Given the description of an element on the screen output the (x, y) to click on. 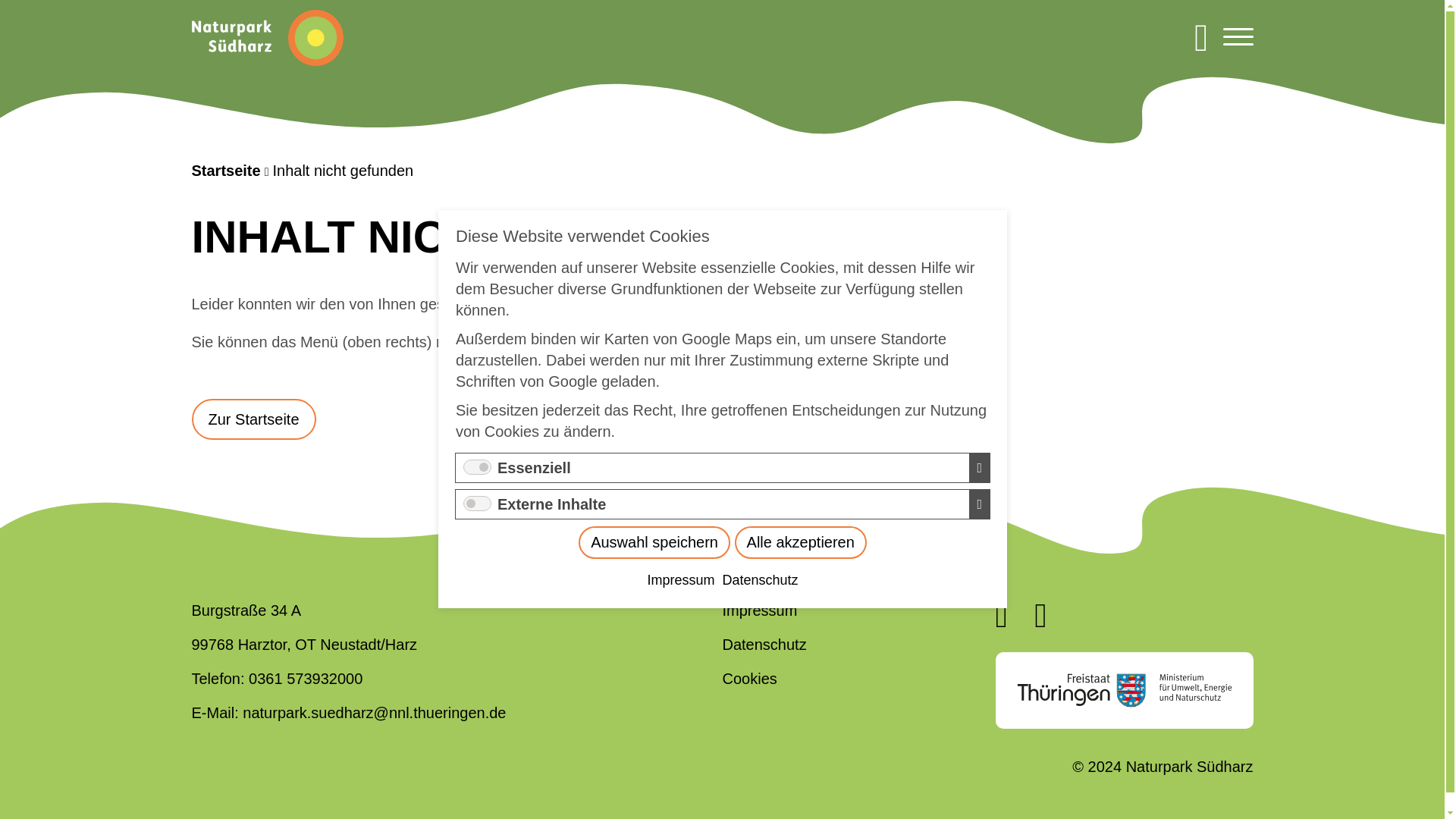
Datenschutz (759, 473)
Auswahl speichern (785, 435)
Impressum (737, 456)
Alle akzeptieren (789, 442)
